Given the description of an element on the screen output the (x, y) to click on. 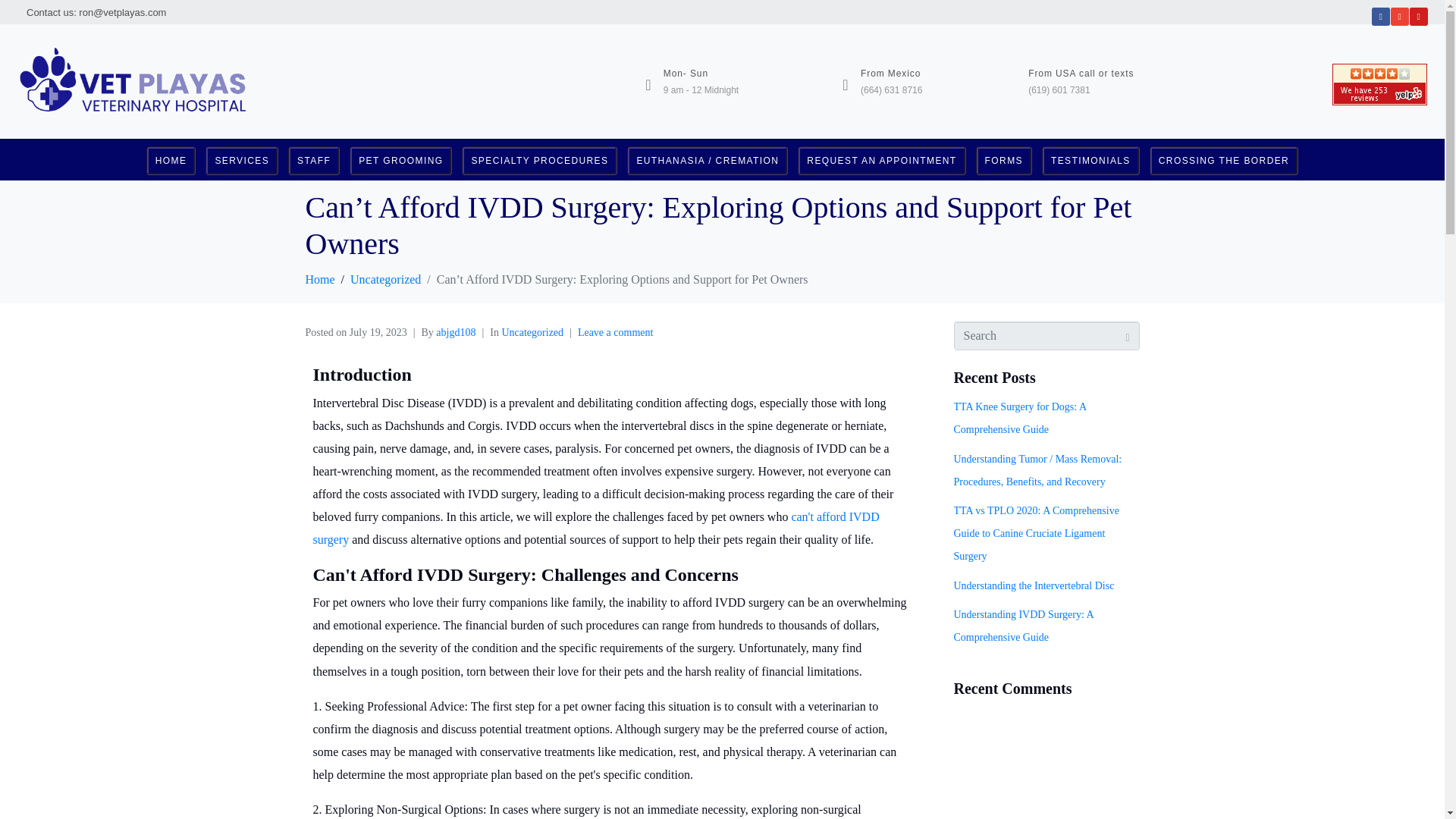
TESTIMONIALS (1091, 137)
SERVICES (241, 127)
CROSSING THE BORDER (1224, 139)
REQUEST AN APPOINTMENT (881, 135)
PET GROOMING (400, 130)
FORMS (1003, 136)
STAFF (313, 129)
SPECIALTY PROCEDURES (539, 131)
HOME (171, 125)
